Given the description of an element on the screen output the (x, y) to click on. 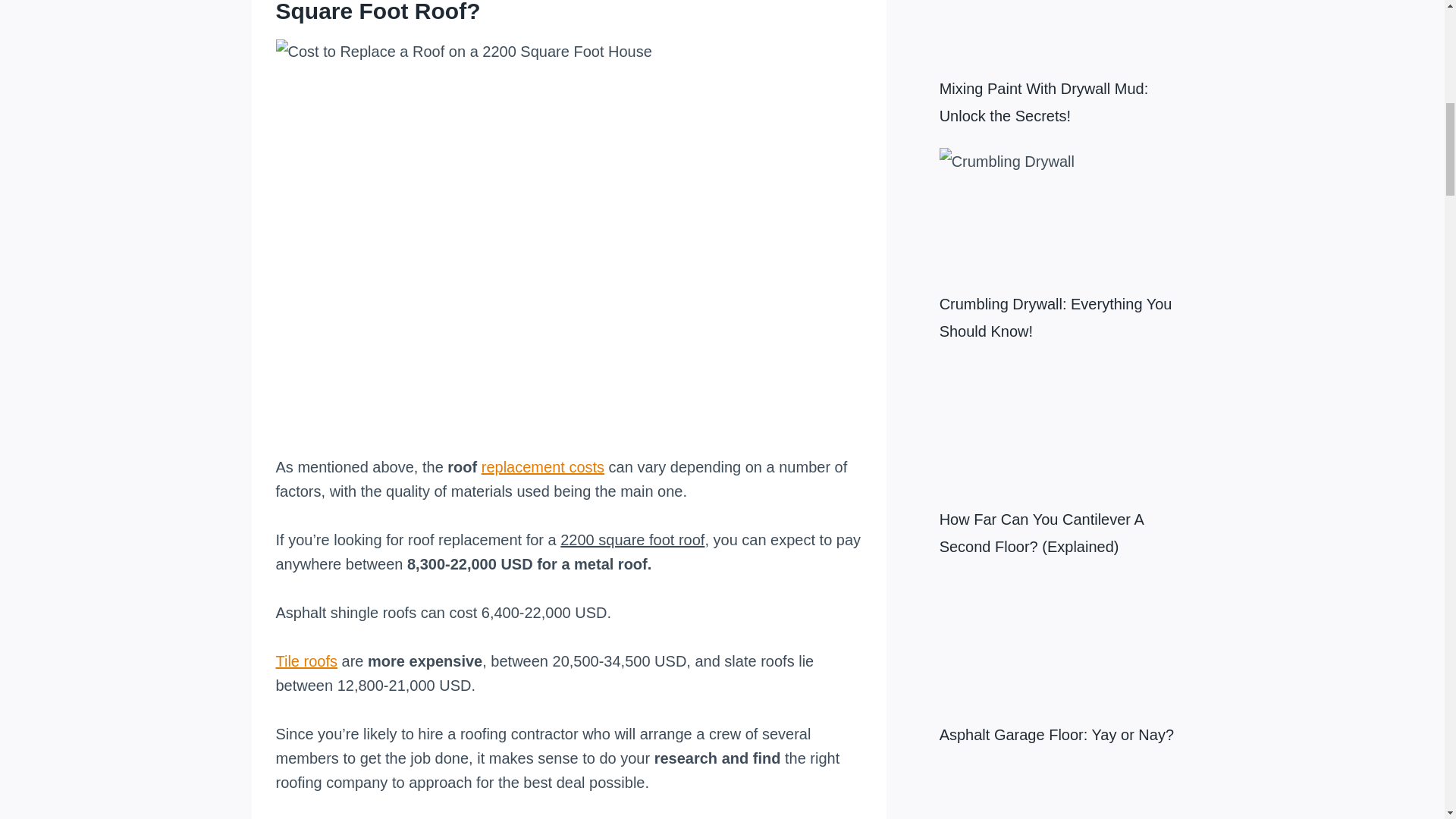
Tile roofs (306, 660)
replacement costs (542, 466)
